Given the description of an element on the screen output the (x, y) to click on. 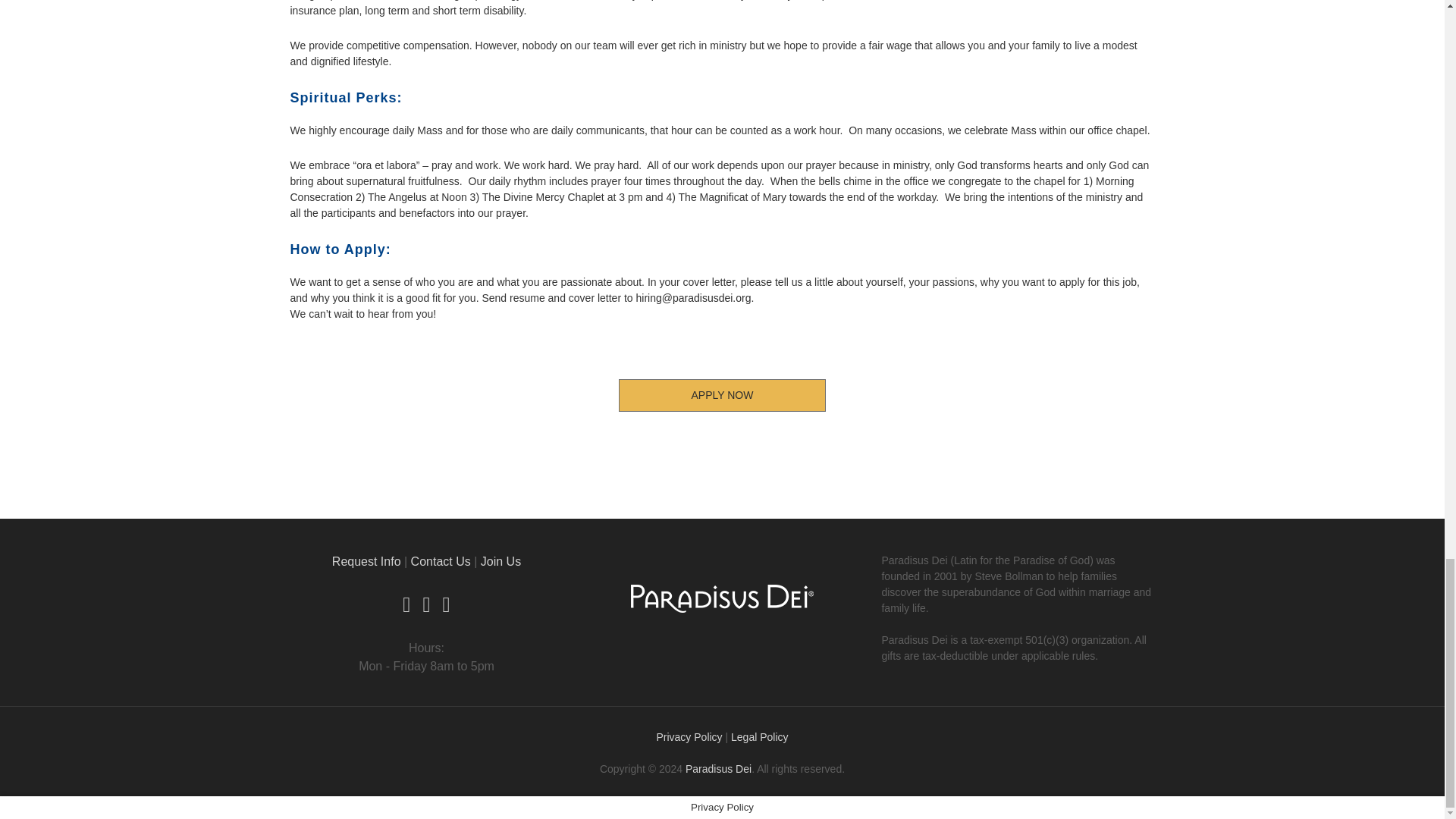
Contact Us (440, 561)
Join Us (500, 561)
Request Info (366, 561)
APPLY NOW (721, 395)
